Given the description of an element on the screen output the (x, y) to click on. 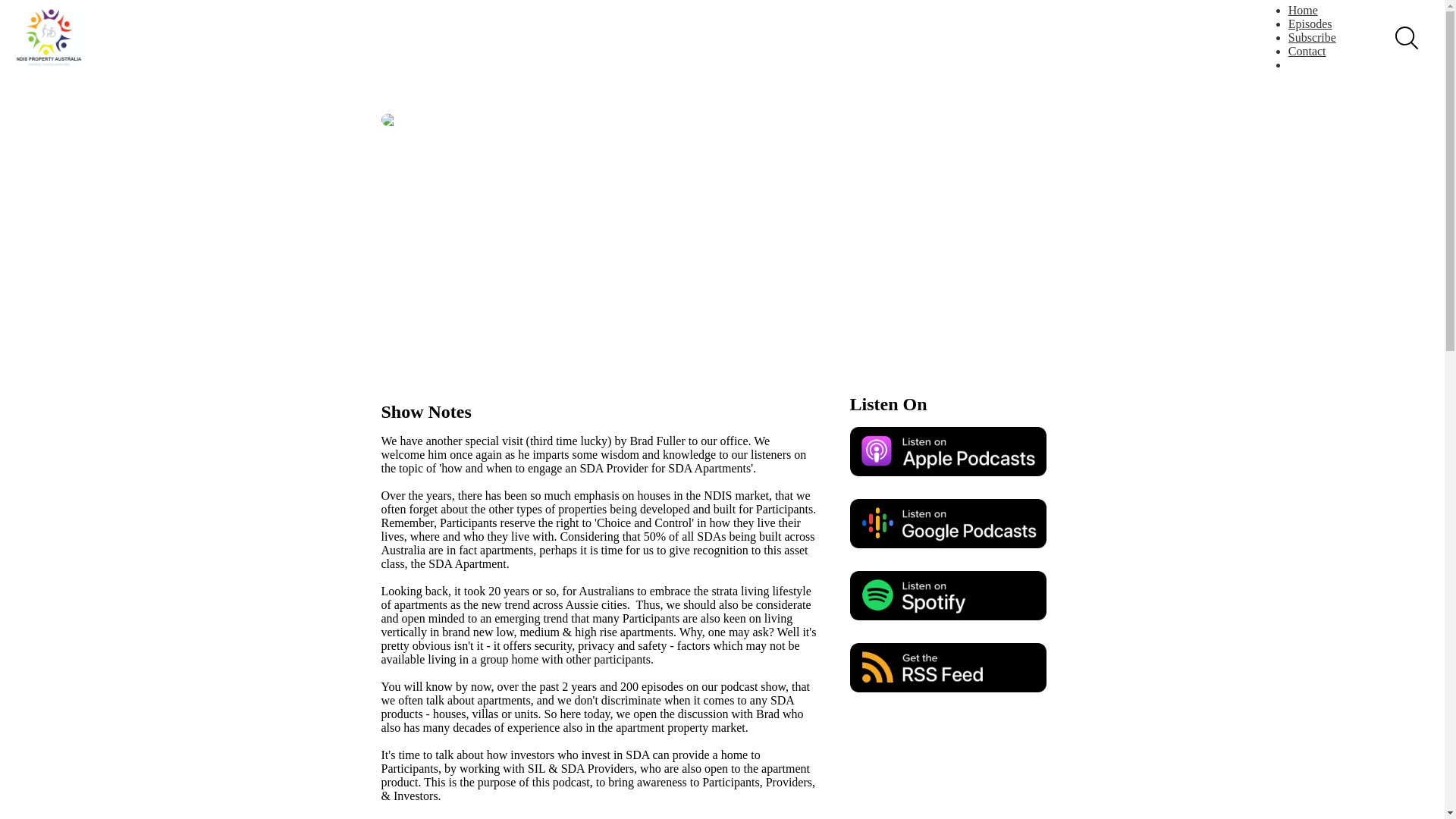
Listen on ApplePodcasts (947, 450)
Listen on GooglePodcasts (947, 522)
Subscribe (1312, 37)
Donate (1321, 64)
Play Episode (685, 251)
Listen on Spotify (947, 594)
LEAVE US A GOOGLE REVIEW! (472, 817)
Download (859, 305)
Rss (947, 667)
Episodes (1310, 23)
Contact (1307, 51)
Home (1302, 10)
